Given the description of an element on the screen output the (x, y) to click on. 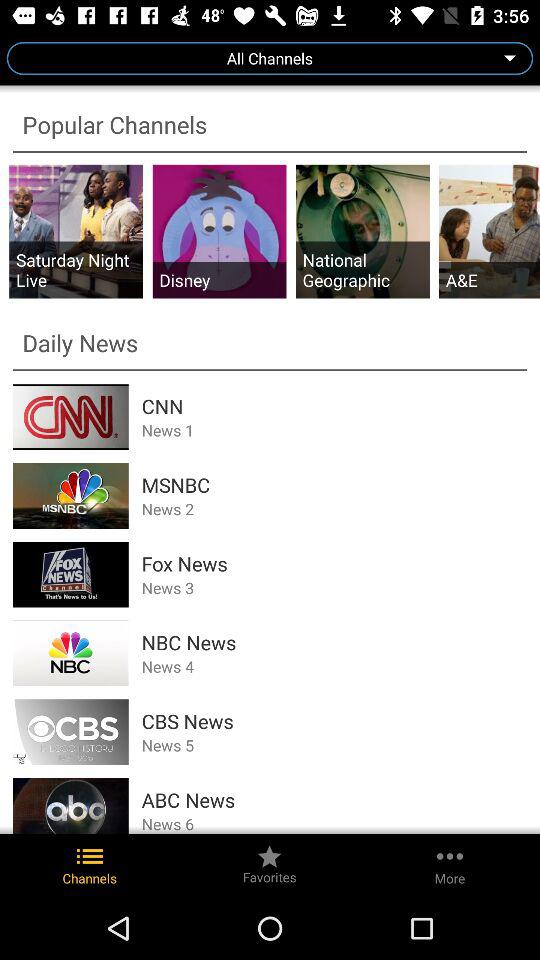
turn off the news 5 app (333, 745)
